Given the description of an element on the screen output the (x, y) to click on. 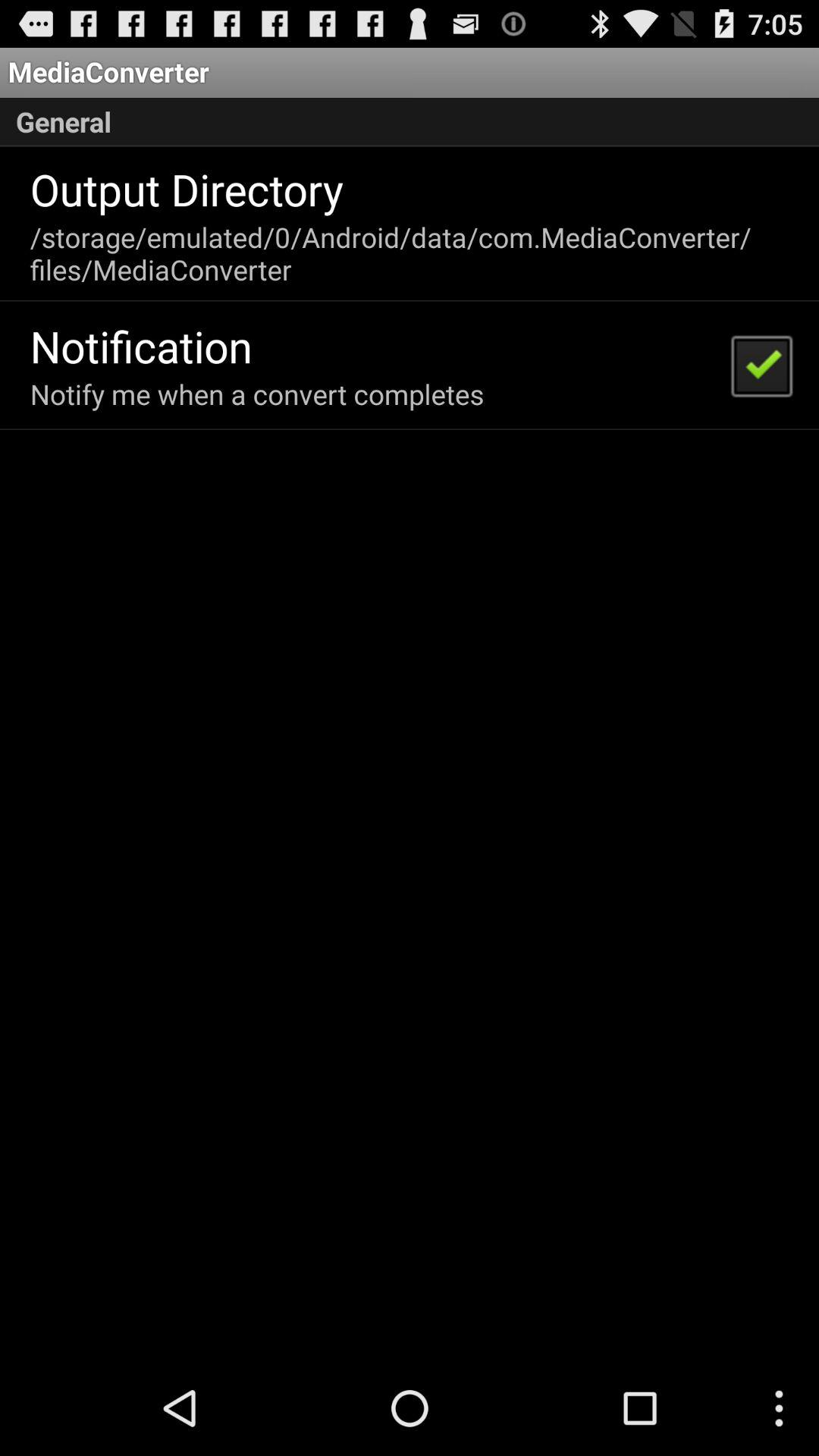
turn on the output directory app (186, 188)
